Given the description of an element on the screen output the (x, y) to click on. 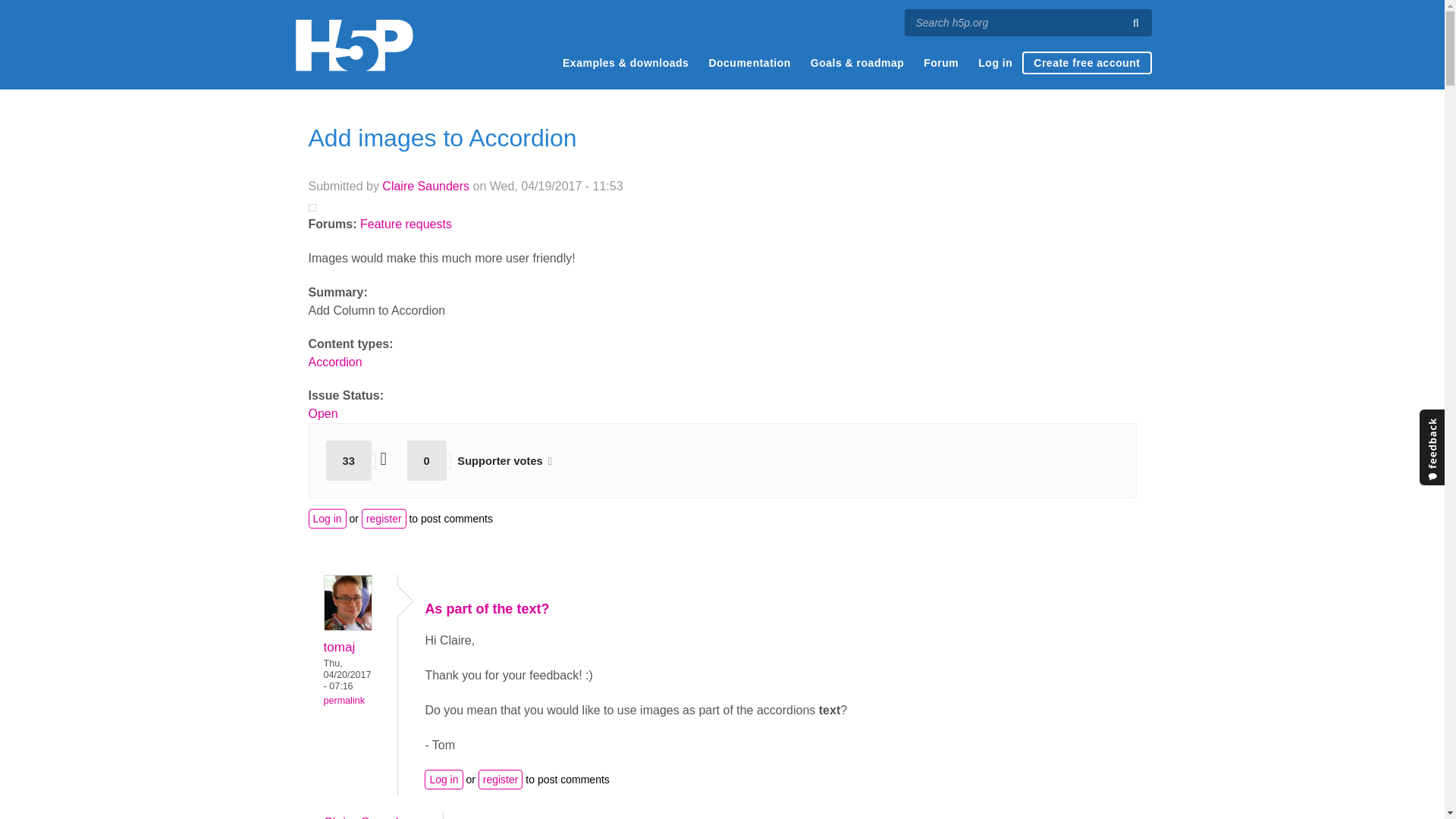
View user profile. (339, 646)
As part of the text? (486, 608)
Open (322, 413)
Log in (444, 779)
register (383, 518)
Claire Saunders (424, 185)
tomaj (339, 646)
Forum (940, 62)
register (500, 779)
permalink (343, 700)
View user profile. (347, 626)
Front page (353, 44)
Accordion (334, 361)
Claire Saunders (369, 816)
Log in (326, 518)
